Given the description of an element on the screen output the (x, y) to click on. 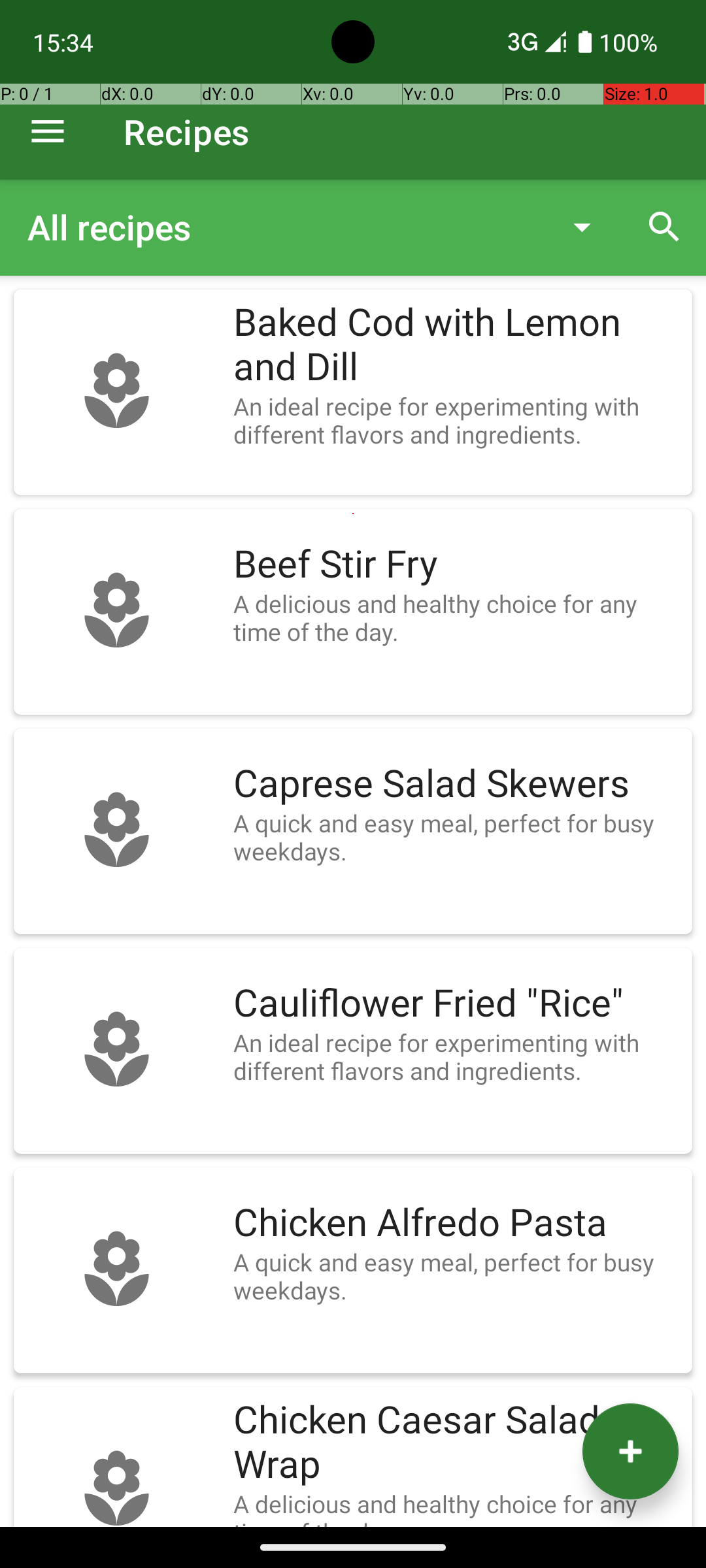
Recipes Element type: android.widget.TextView (186, 131)
Categories Element type: android.widget.Spinner (324, 227)
New Recipe Element type: android.widget.ImageButton (630, 1451)
All recipes Element type: android.widget.TextView (283, 226)
Recipe photo Element type: android.widget.ImageView (116, 392)
Baked Cod with Lemon and Dill Element type: android.widget.TextView (455, 344)
An ideal recipe for experimenting with different flavors and ingredients. Element type: android.widget.TextView (455, 419)
Beef Stir Fry Element type: android.widget.TextView (455, 564)
A delicious and healthy choice for any time of the day. Element type: android.widget.TextView (455, 617)
Caprese Salad Skewers Element type: android.widget.TextView (455, 783)
A quick and easy meal, perfect for busy weekdays. Element type: android.widget.TextView (455, 836)
Cauliflower Fried "Rice" Element type: android.widget.TextView (455, 1003)
Chicken Alfredo Pasta Element type: android.widget.TextView (455, 1222)
Chicken Caesar Salad Wrap Element type: android.widget.TextView (455, 1442)
